Given the description of an element on the screen output the (x, y) to click on. 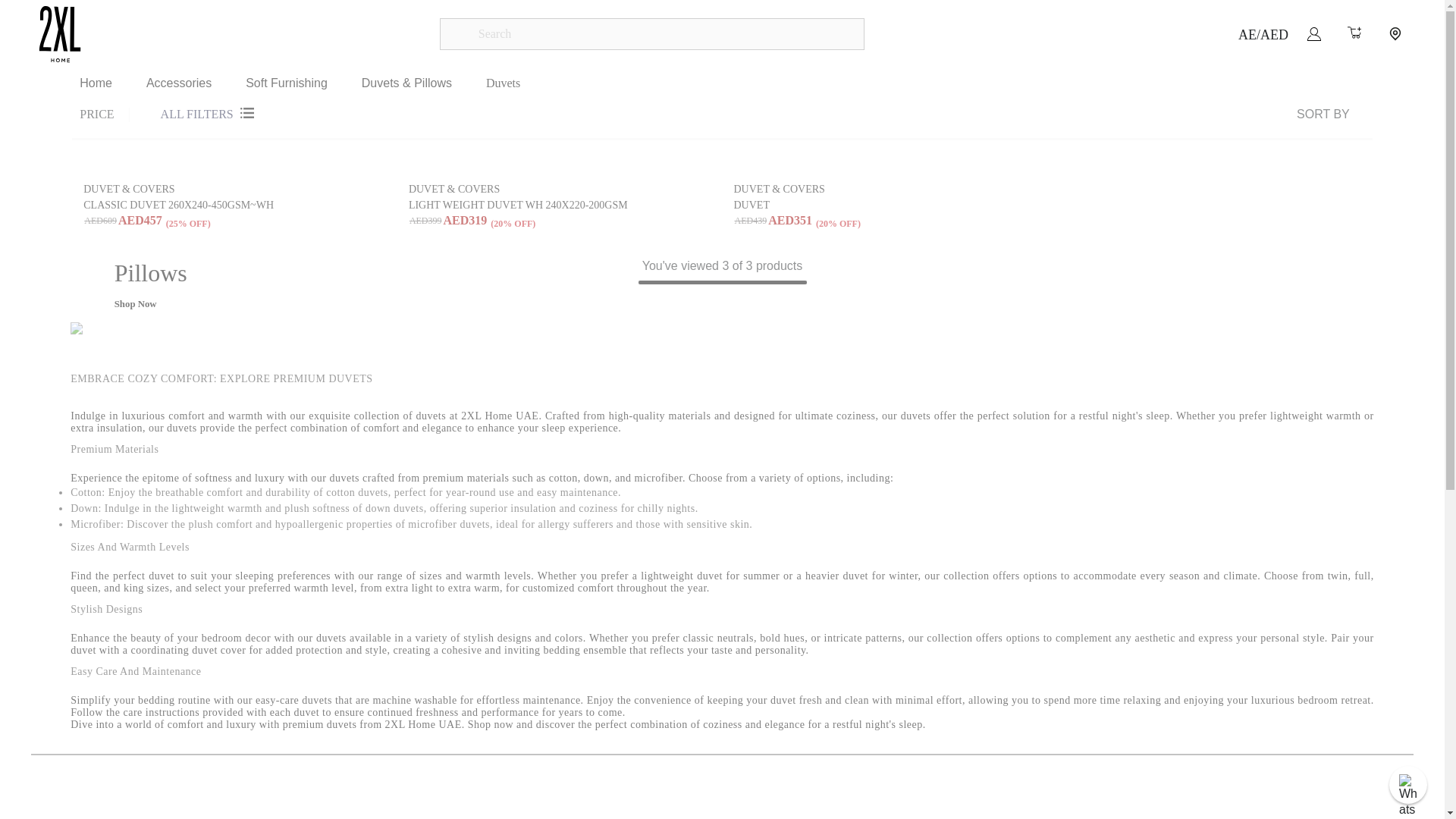
Buy Now Pay Later (390, 17)
B2B Services (106, 17)
Sign In (1313, 33)
Join Sougha Rewards (1343, 17)
Go to Home Page (96, 83)
FURNITURE (427, 16)
